Given the description of an element on the screen output the (x, y) to click on. 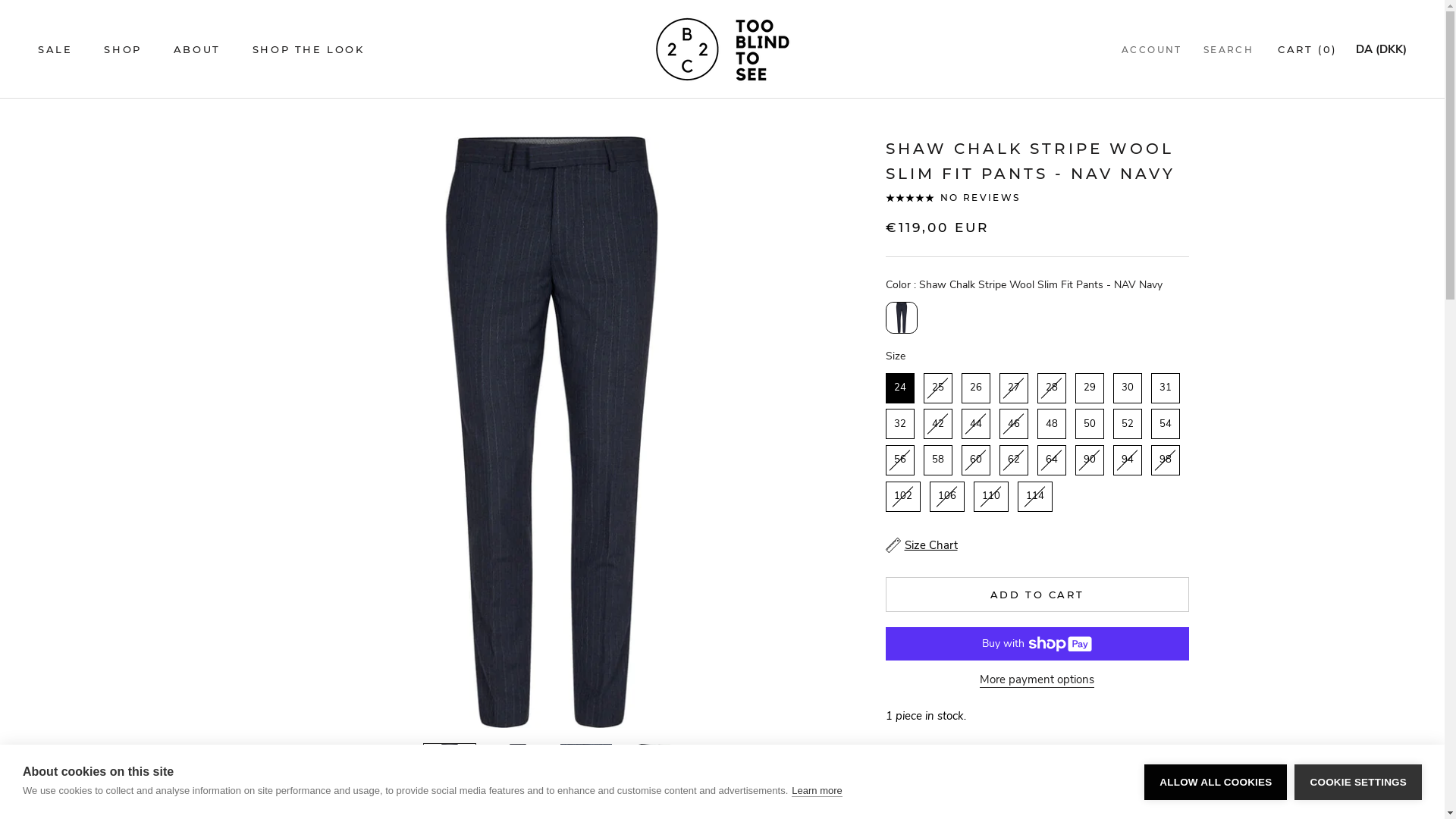
COOKIE SETTINGS Element type: text (1357, 782)
SHOP
SHOP Element type: text (122, 49)
ACCOUNT Element type: text (1151, 49)
More payment options Element type: text (1036, 679)
SEARCH Element type: text (1228, 49)
DA (DKK) Element type: text (1380, 49)
SHOP THE LOOK
SHOP THE LOOK Element type: text (308, 49)
SALE
SALE Element type: text (54, 49)
CART (0) Element type: text (1306, 49)
ADD TO CART Element type: text (1037, 594)
Learn more Element type: text (816, 790)
ALLOW ALL COOKIES Element type: text (1215, 782)
ABOUT
ABOUT Element type: text (196, 49)
